Given the description of an element on the screen output the (x, y) to click on. 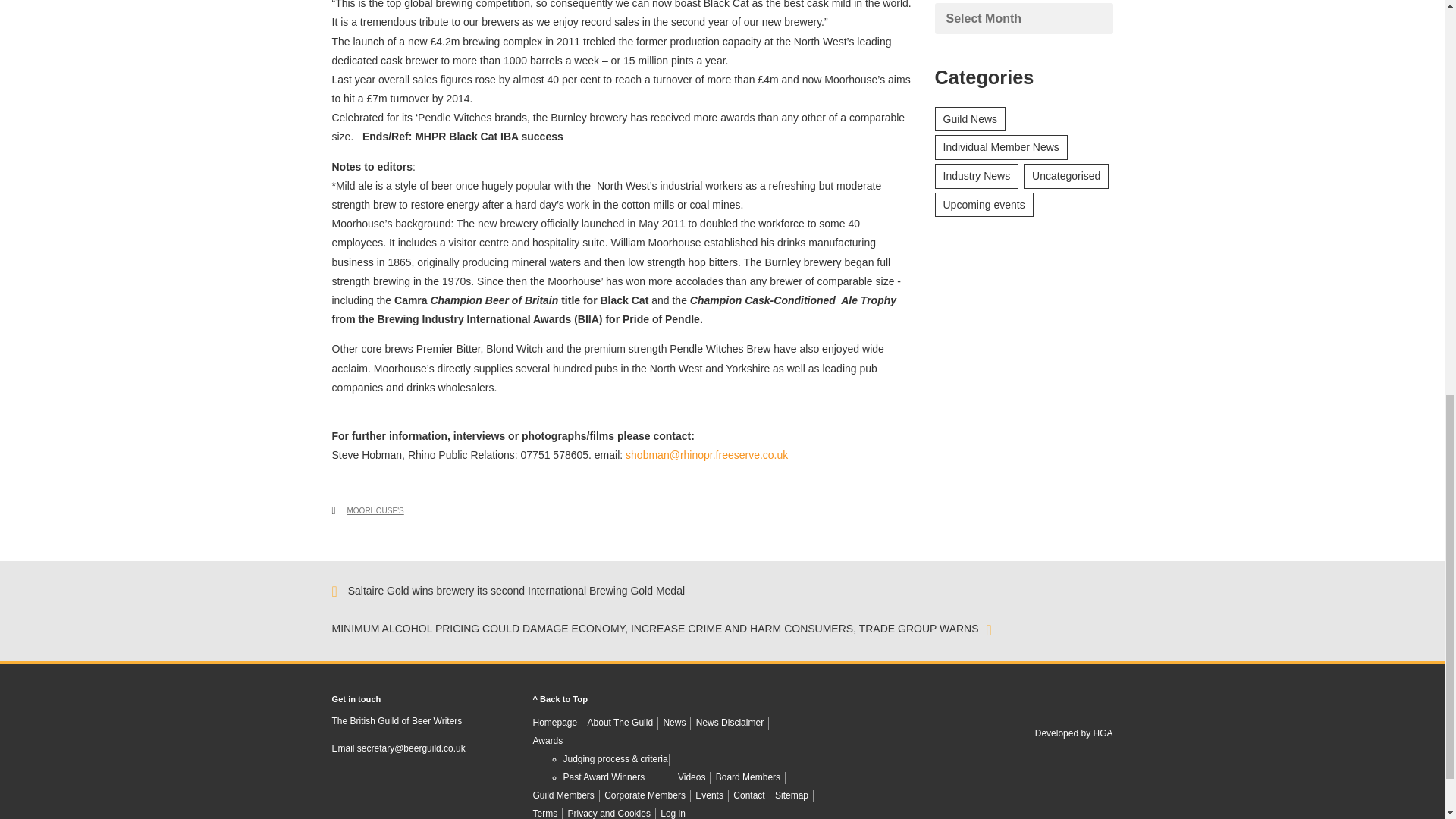
MOORHOUSE'S (375, 510)
